Given the description of an element on the screen output the (x, y) to click on. 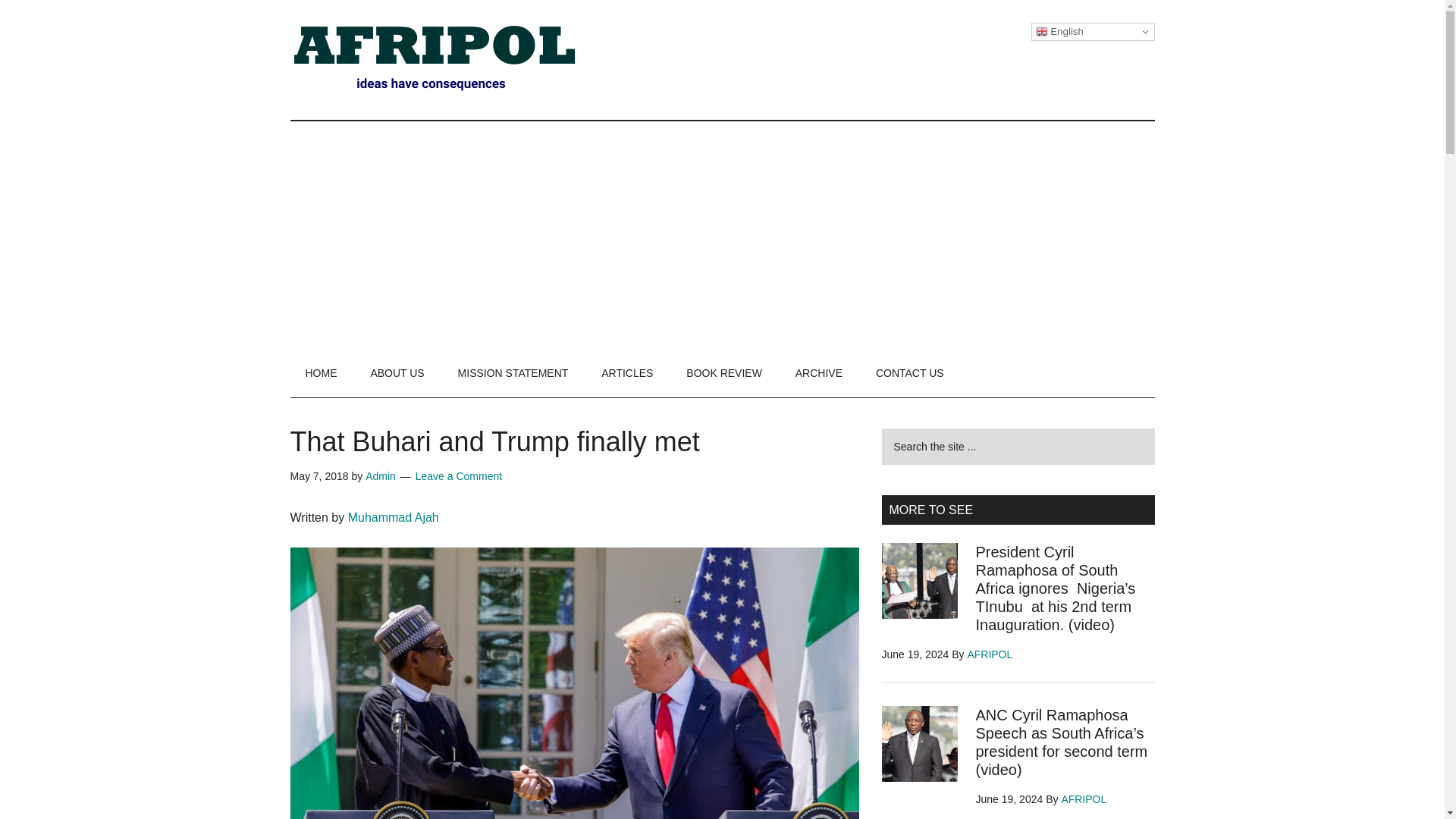
ABOUT US (397, 372)
English (1092, 31)
Muhammad Ajah (393, 517)
HOME (320, 372)
AFRIPOL (988, 654)
Advertisement (1208, 44)
MISSION STATEMENT (512, 372)
BOOK REVIEW (724, 372)
AFRIPOL (1083, 799)
CONTACT US (909, 372)
Leave a Comment (458, 476)
